Given the description of an element on the screen output the (x, y) to click on. 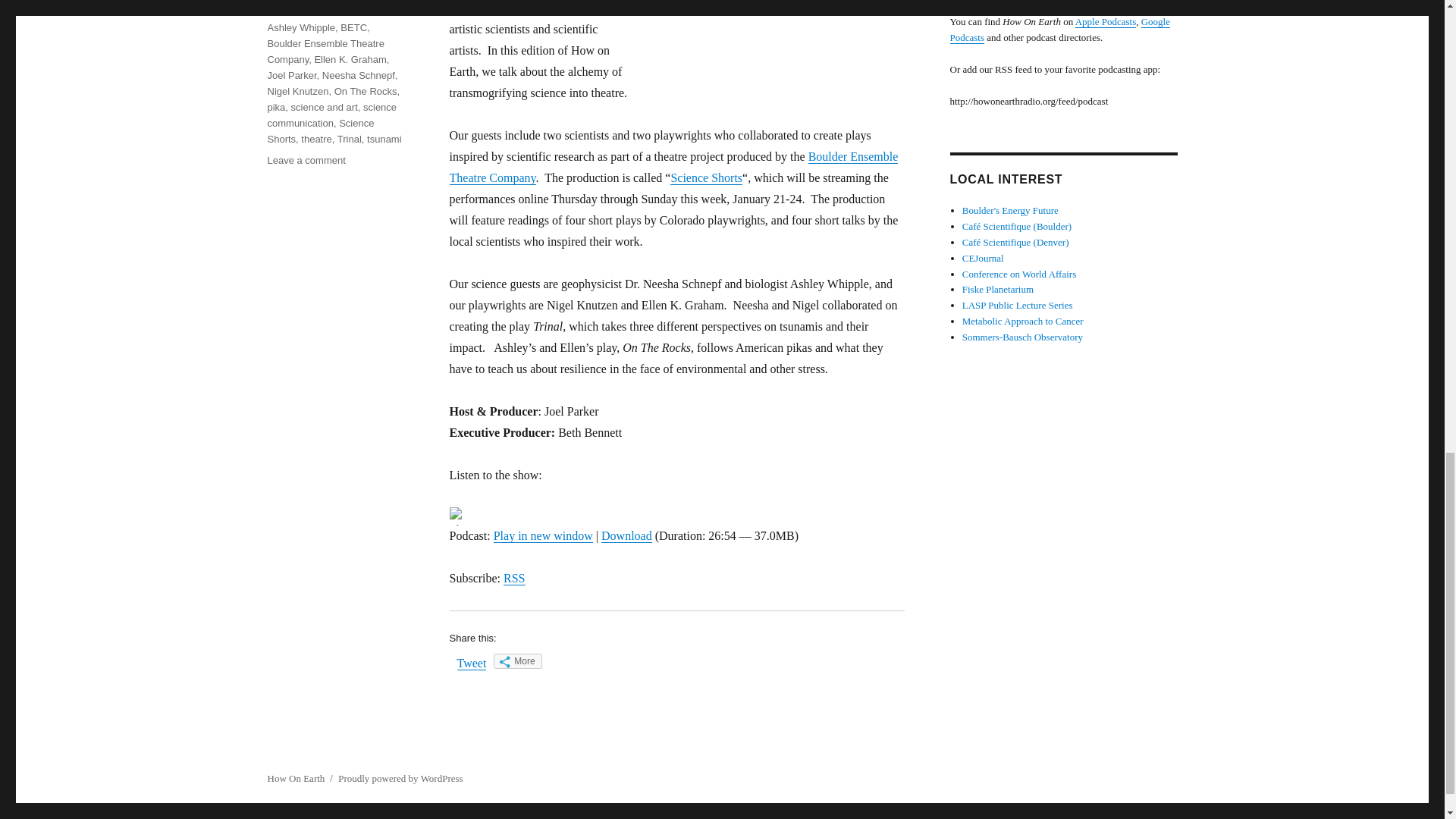
Play (456, 515)
Upcoming book by Nasha Winters and Jess Kelley (1022, 320)
Episodes (286, 6)
Ashley Whipple (300, 27)
Science Shorts (705, 177)
Download (626, 535)
Boulder Ensemble Theatre Company (673, 166)
Download (626, 535)
Tweet (471, 662)
